Given the description of an element on the screen output the (x, y) to click on. 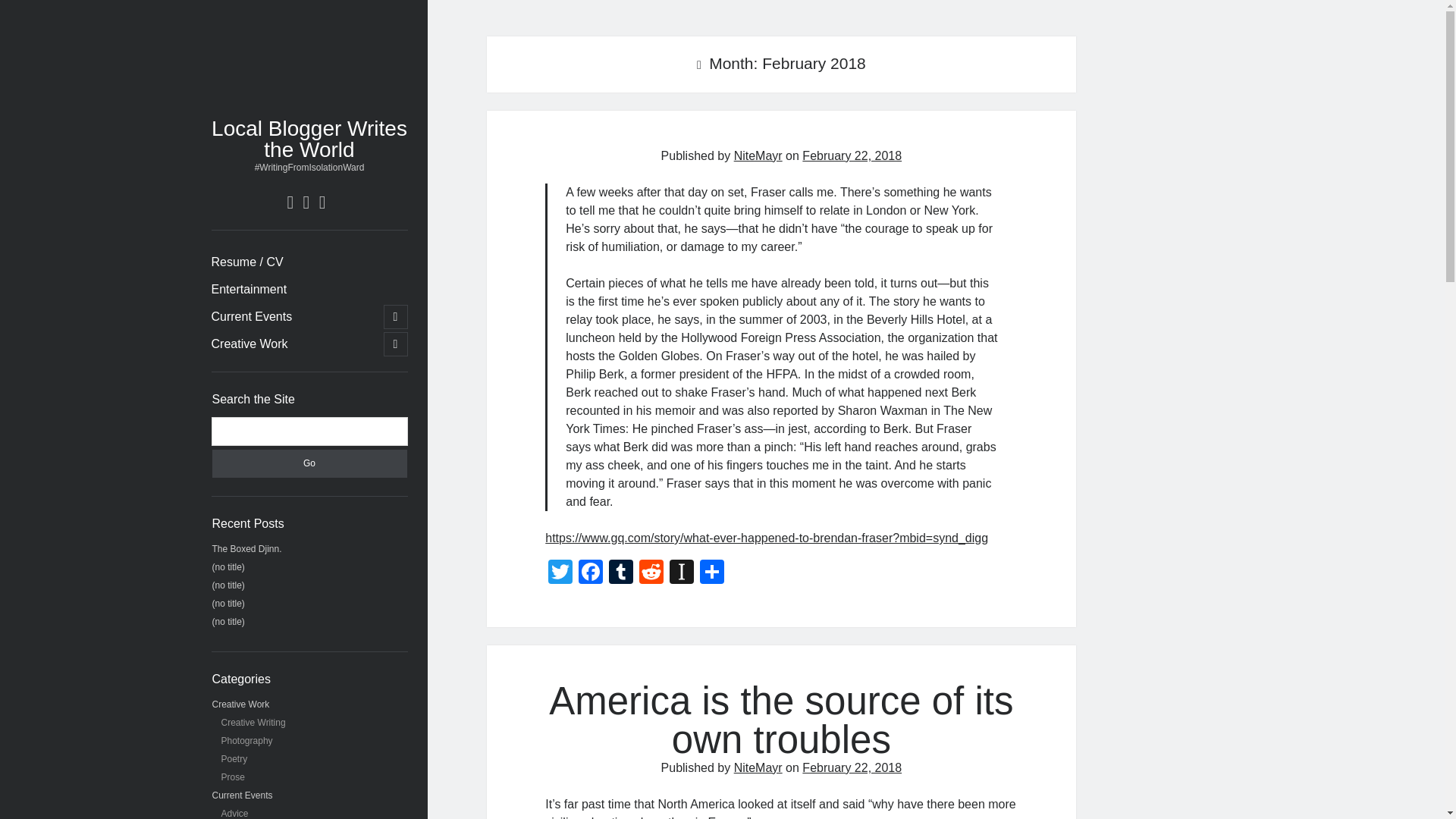
Search for: (309, 431)
Instapaper (681, 573)
Creative Work (248, 343)
Local Blogger Writes the World (309, 139)
Prose (232, 777)
open child menu (395, 344)
Current Events (242, 795)
Current Events (251, 316)
Go (309, 463)
Creative Writing (253, 722)
